Given the description of an element on the screen output the (x, y) to click on. 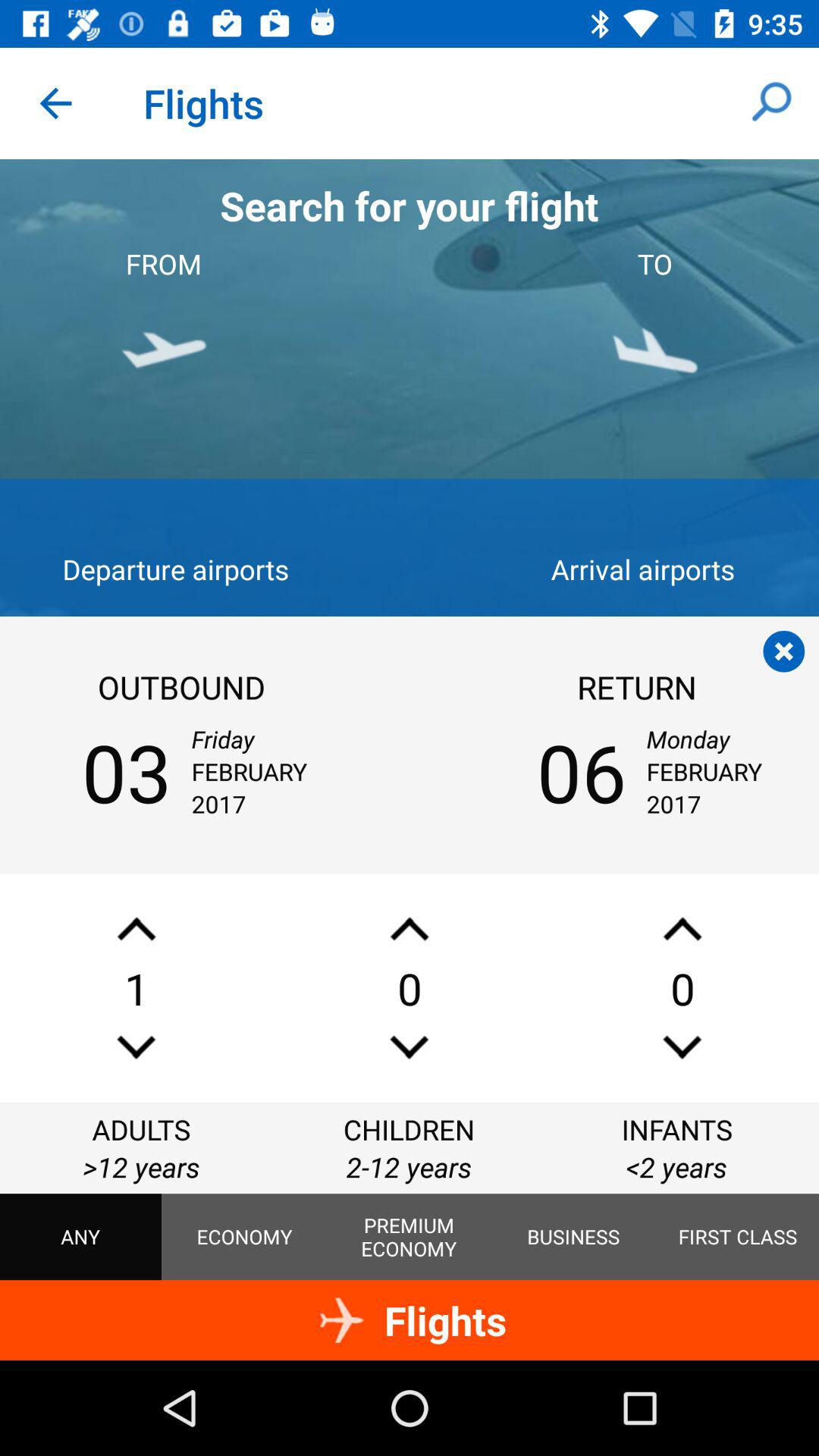
remove the number of children (409, 1047)
